Given the description of an element on the screen output the (x, y) to click on. 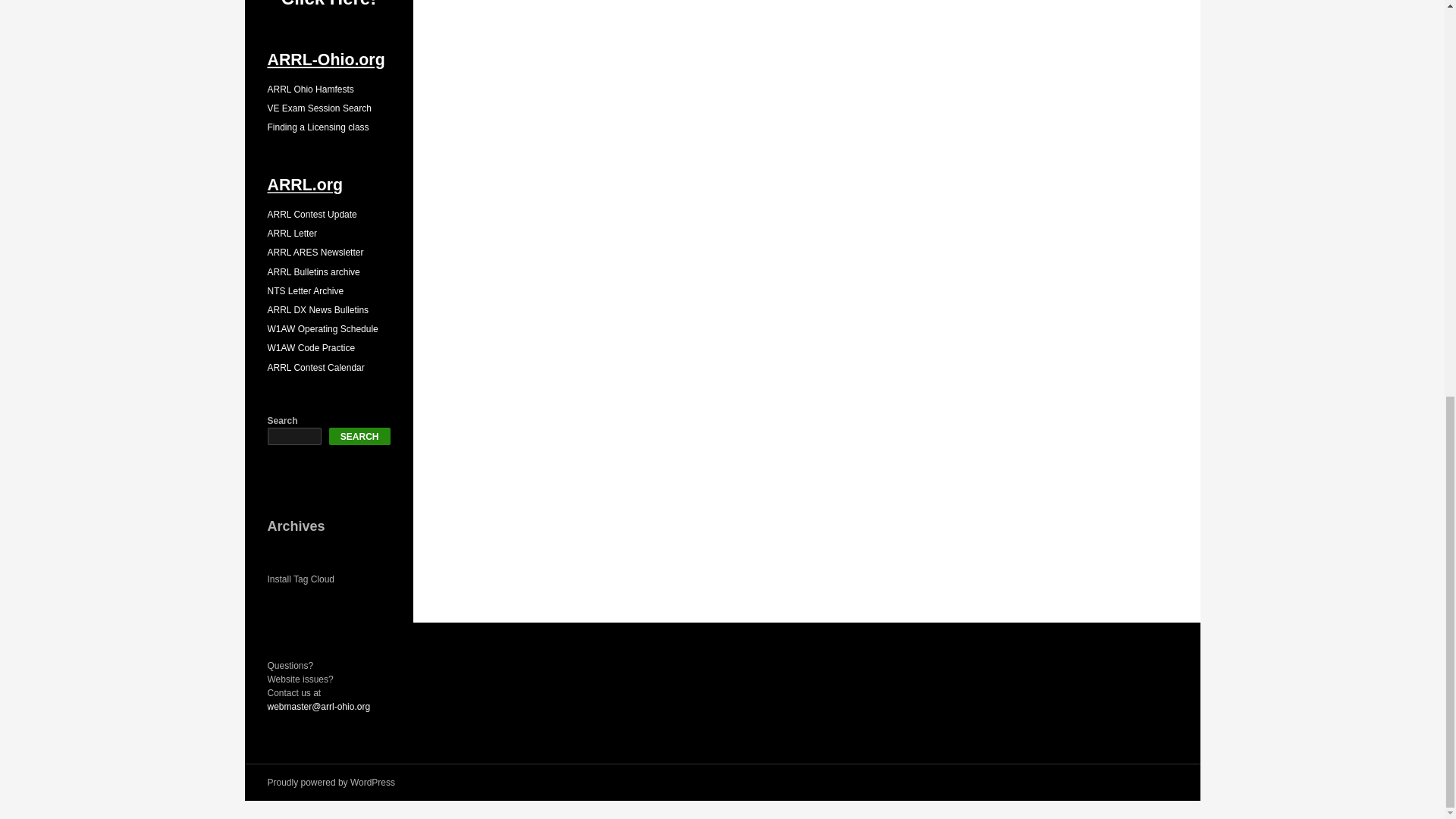
VE Exam Session Search (318, 108)
ARRL Ohio Hamfests (309, 89)
Click Here! (328, 4)
ARRL-Ohio.org (325, 59)
